Given the description of an element on the screen output the (x, y) to click on. 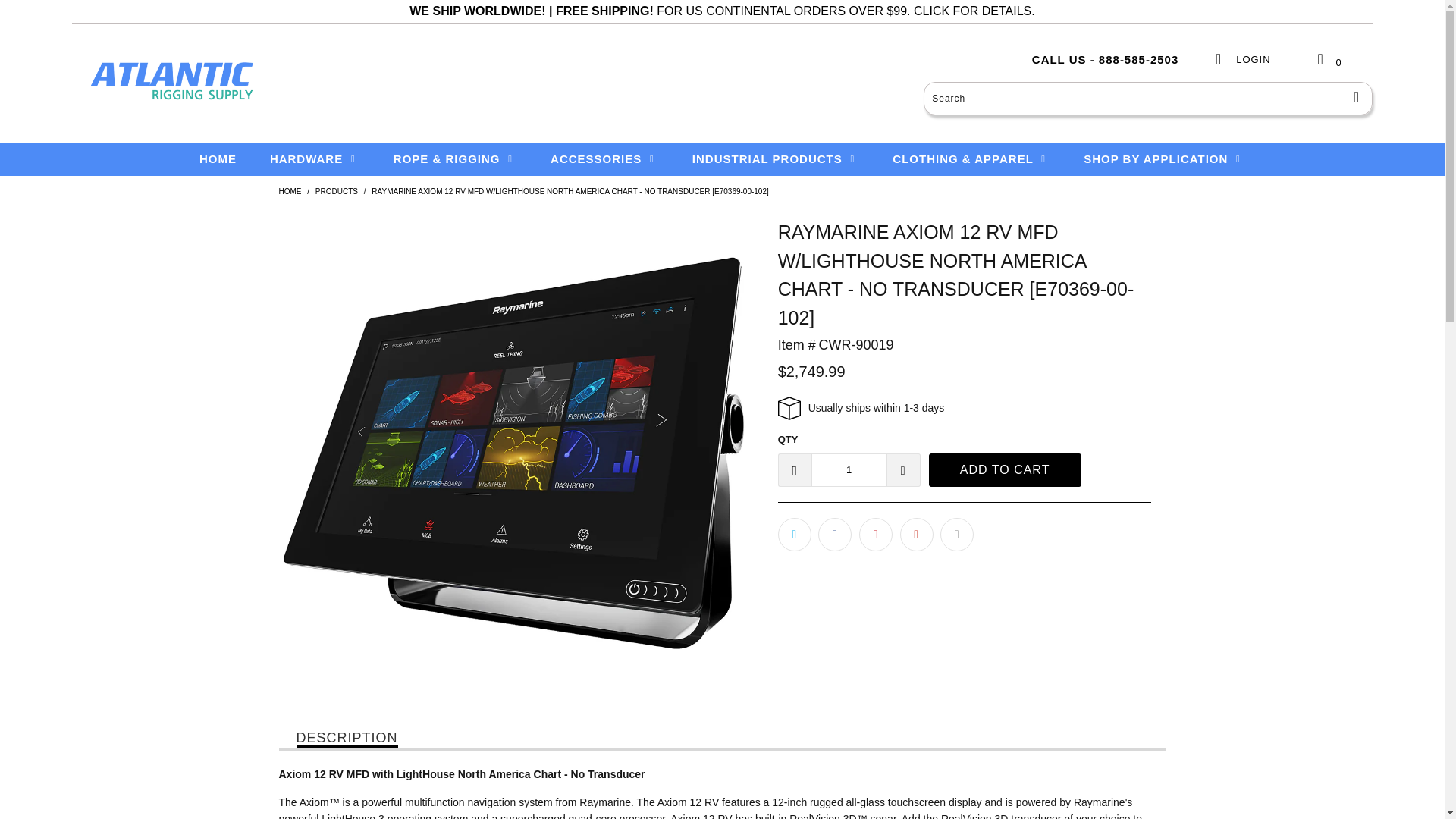
Shipping (973, 10)
Share this on Twitter (793, 534)
My Account  (1242, 66)
SB Suppliers (170, 81)
Email this to a friend (957, 534)
1 (848, 469)
Share this on Facebook (834, 534)
SB Suppliers (290, 191)
Products (337, 191)
Share this on Pinterest (875, 534)
